Given the description of an element on the screen output the (x, y) to click on. 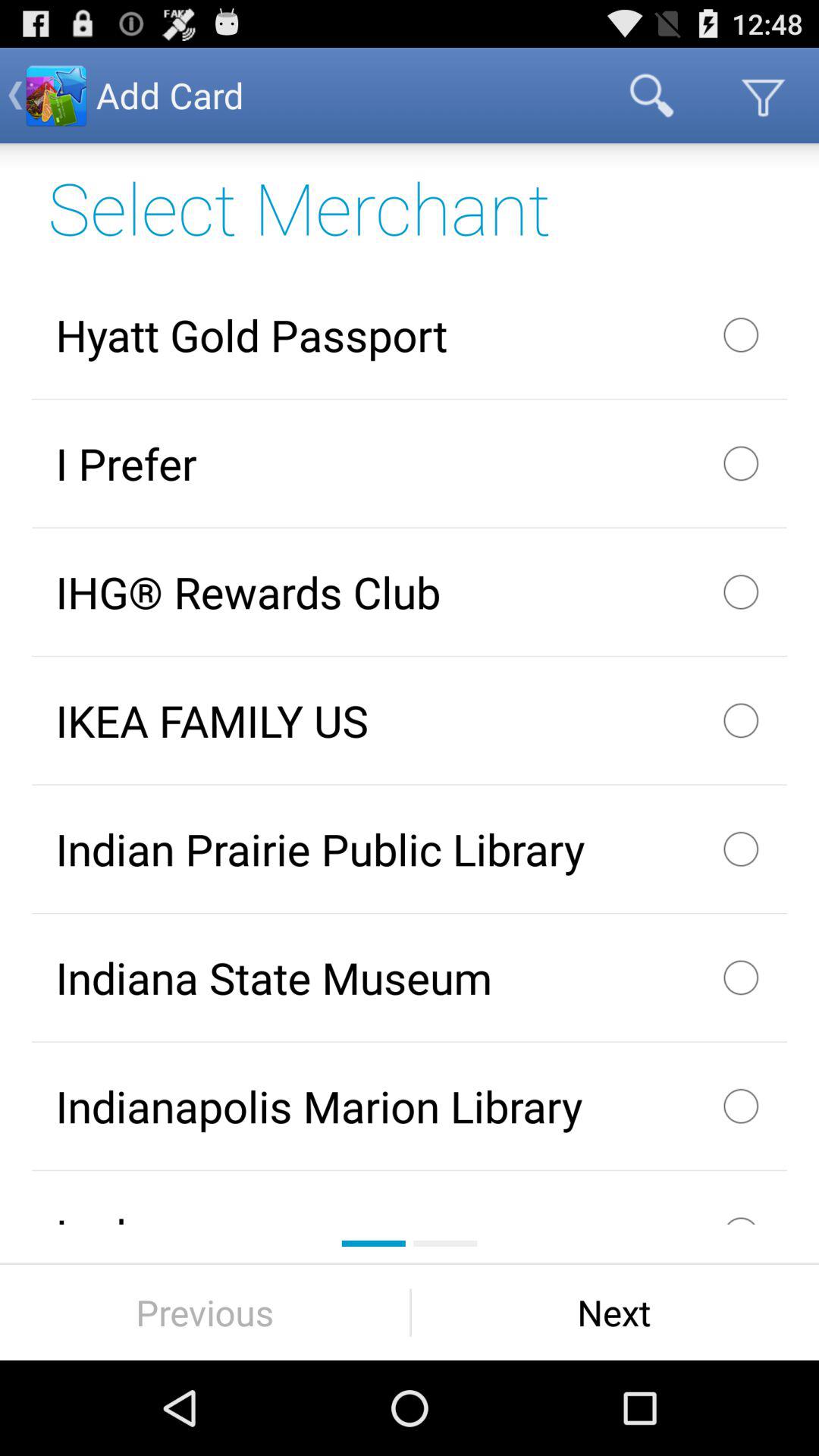
turn on app below select merchant (409, 334)
